Given the description of an element on the screen output the (x, y) to click on. 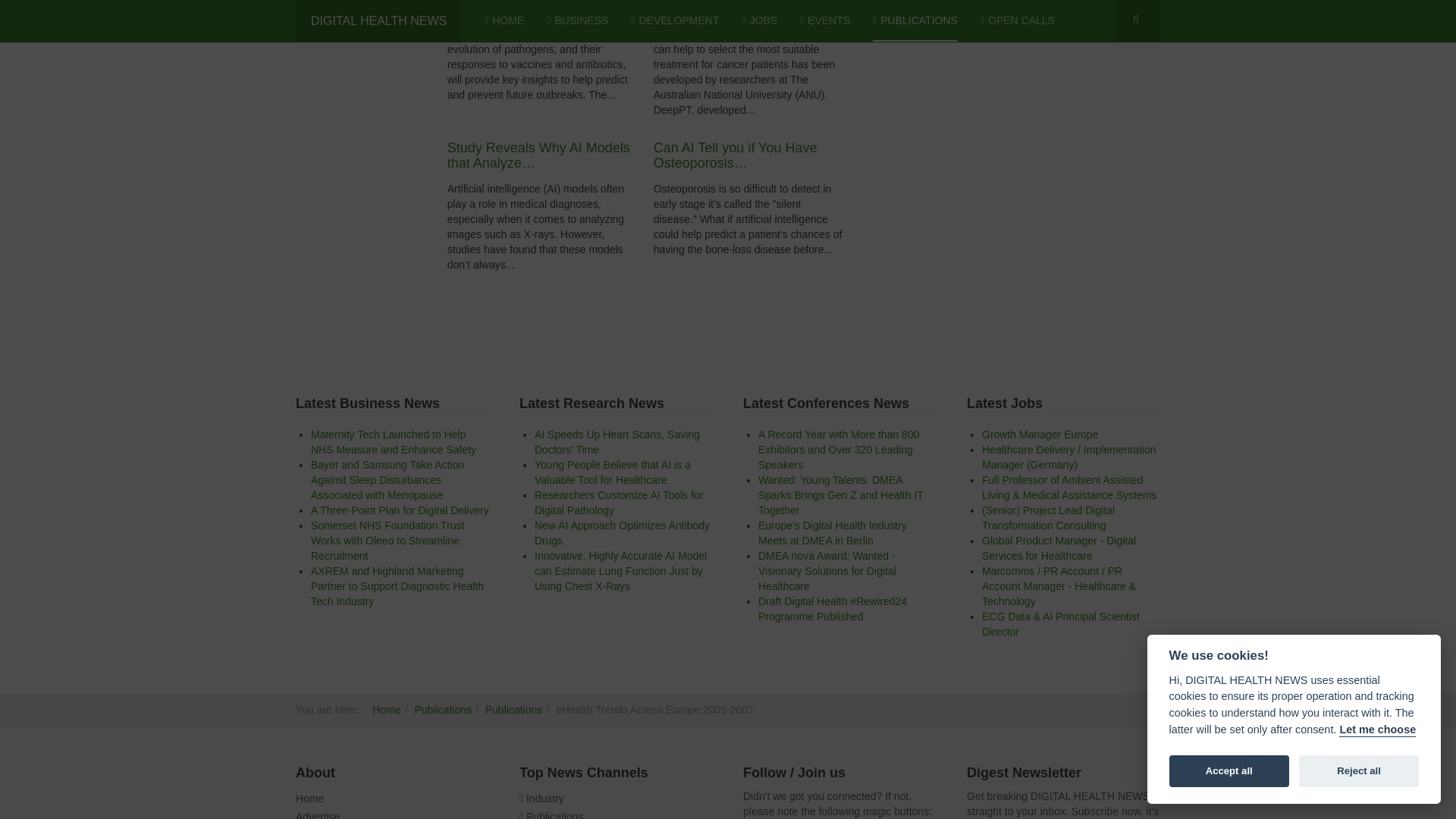
AI Model to Improve Patient Response to Cancer Therapy (737, 7)
